Given the description of an element on the screen output the (x, y) to click on. 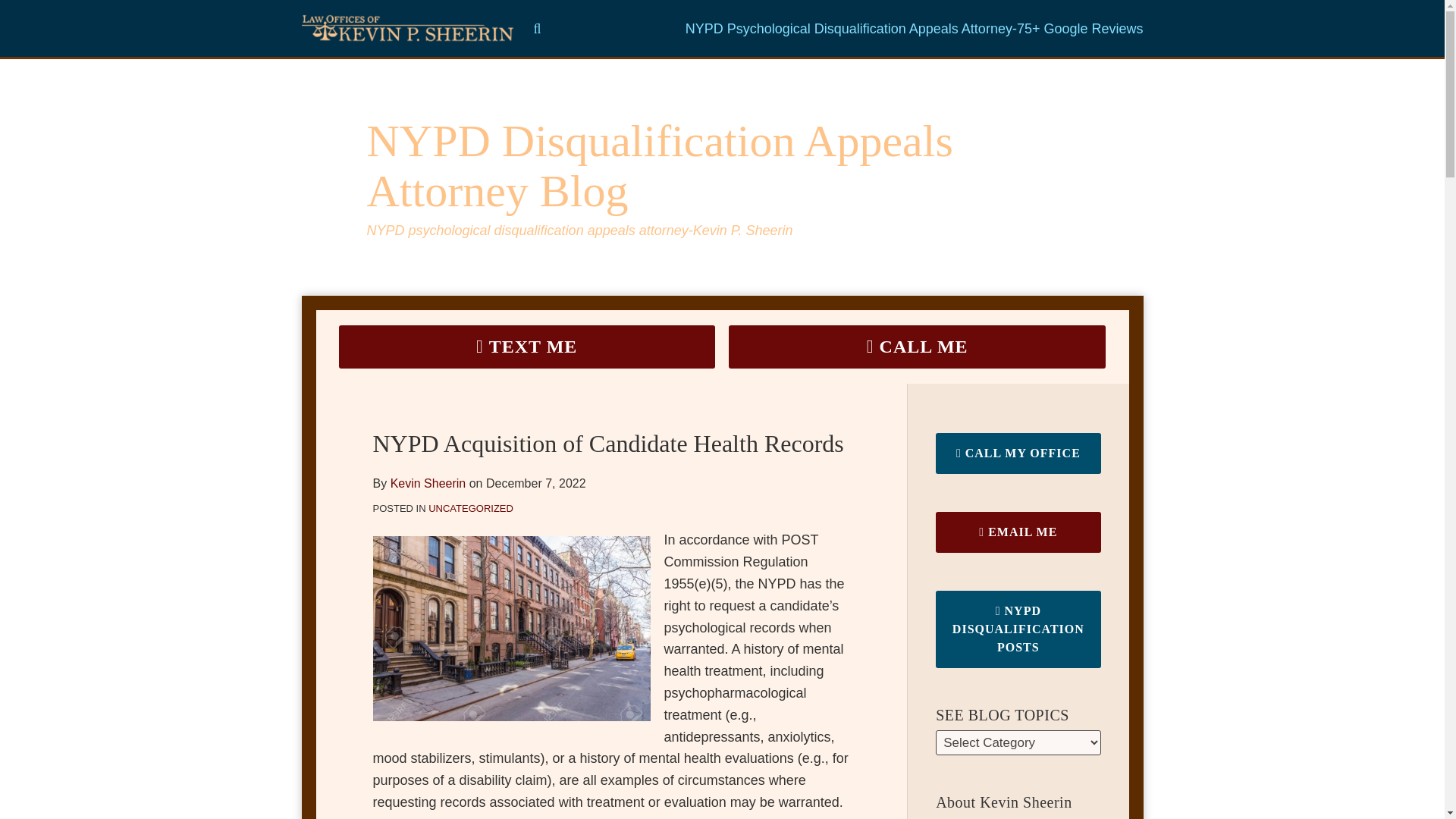
Kevin Sheerin (427, 482)
NYPD Disqualification Appeals Attorney Blog (659, 166)
CALL MY OFFICE (1018, 453)
NYPD DISQUALIFICATION POSTS (1018, 629)
TEXT ME (525, 346)
EMAIL ME (1018, 531)
CALL ME (917, 346)
UNCATEGORIZED (470, 508)
